Given the description of an element on the screen output the (x, y) to click on. 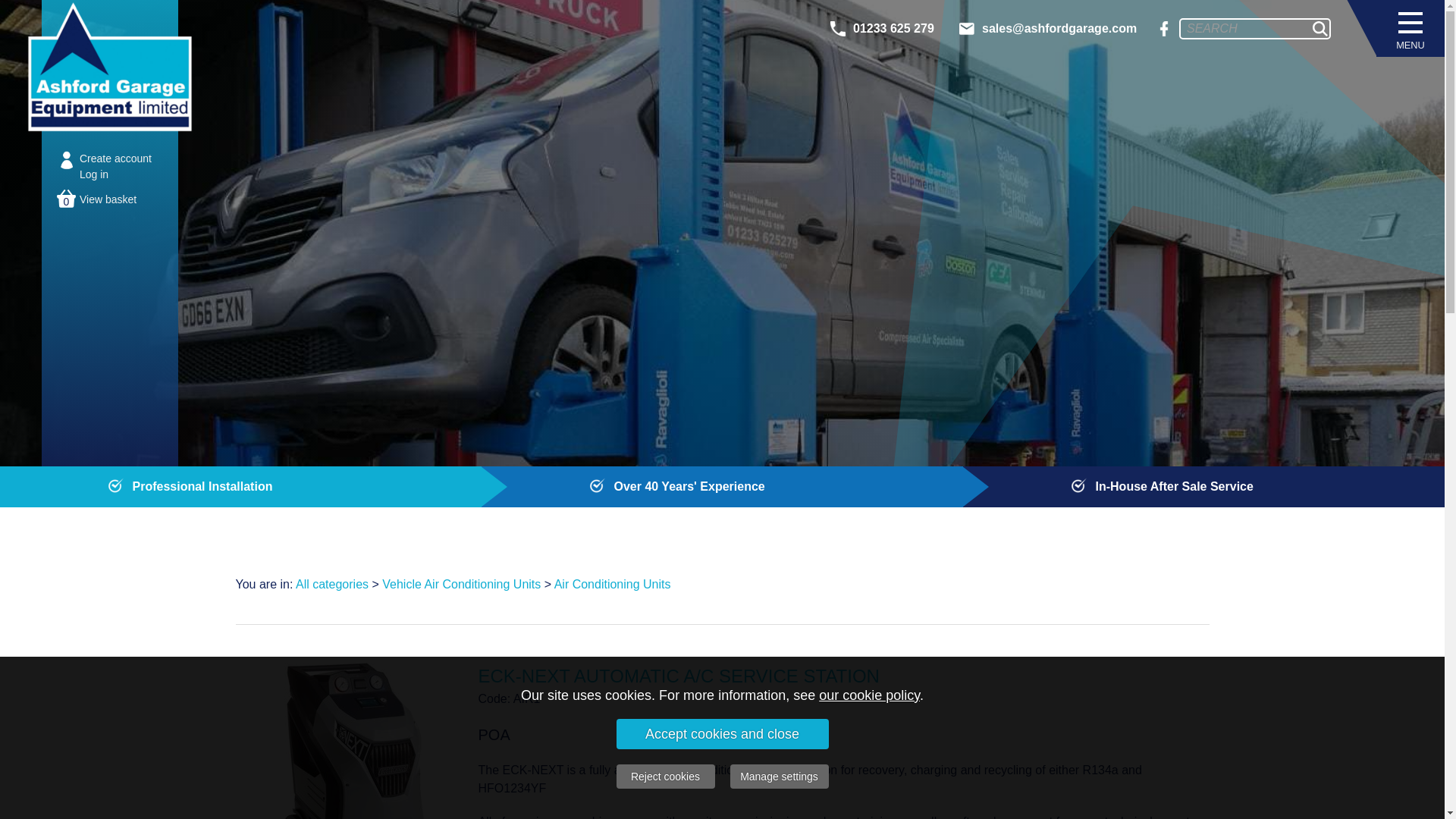
View basket (108, 199)
0 (65, 198)
Log in (93, 174)
Create account (115, 158)
